Given the description of an element on the screen output the (x, y) to click on. 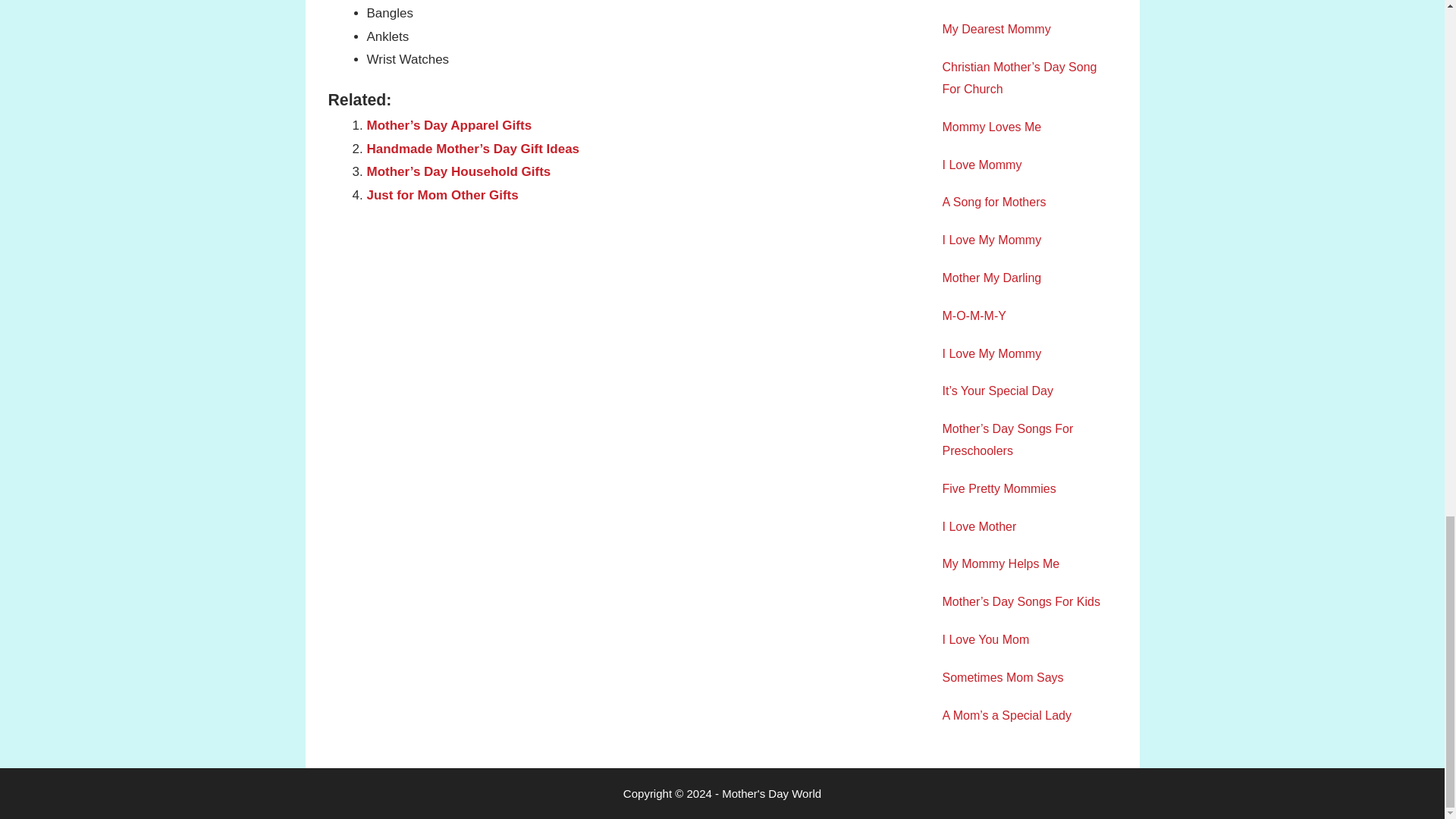
Just for Mom Other Gifts (442, 195)
Just for Mom Other Gifts (442, 195)
